Given the description of an element on the screen output the (x, y) to click on. 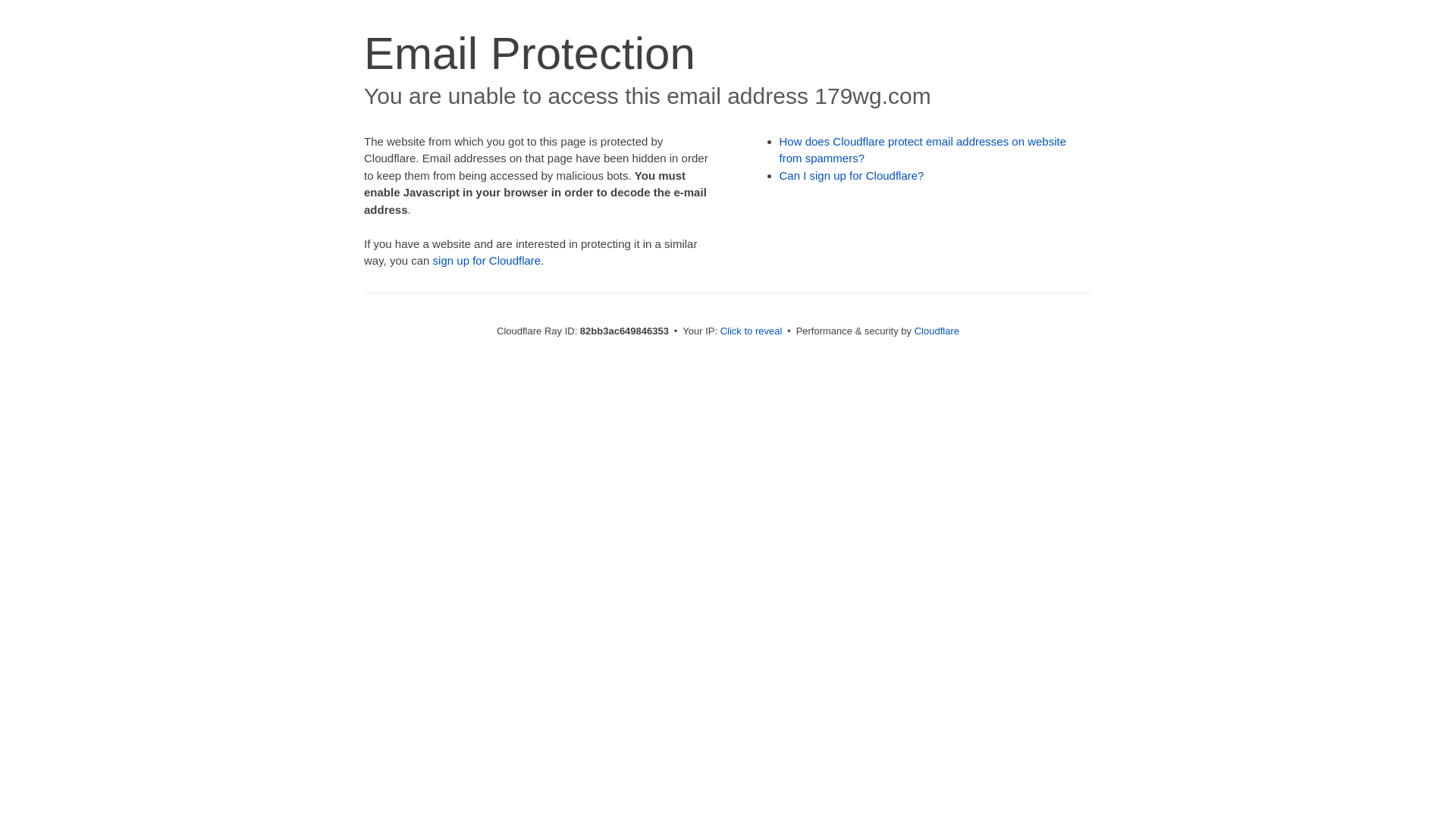
Click to reveal Element type: text (751, 330)
sign up for Cloudflare Element type: text (487, 260)
Cloudflare Element type: text (936, 330)
Can I sign up for Cloudflare? Element type: text (851, 175)
